Given the description of an element on the screen output the (x, y) to click on. 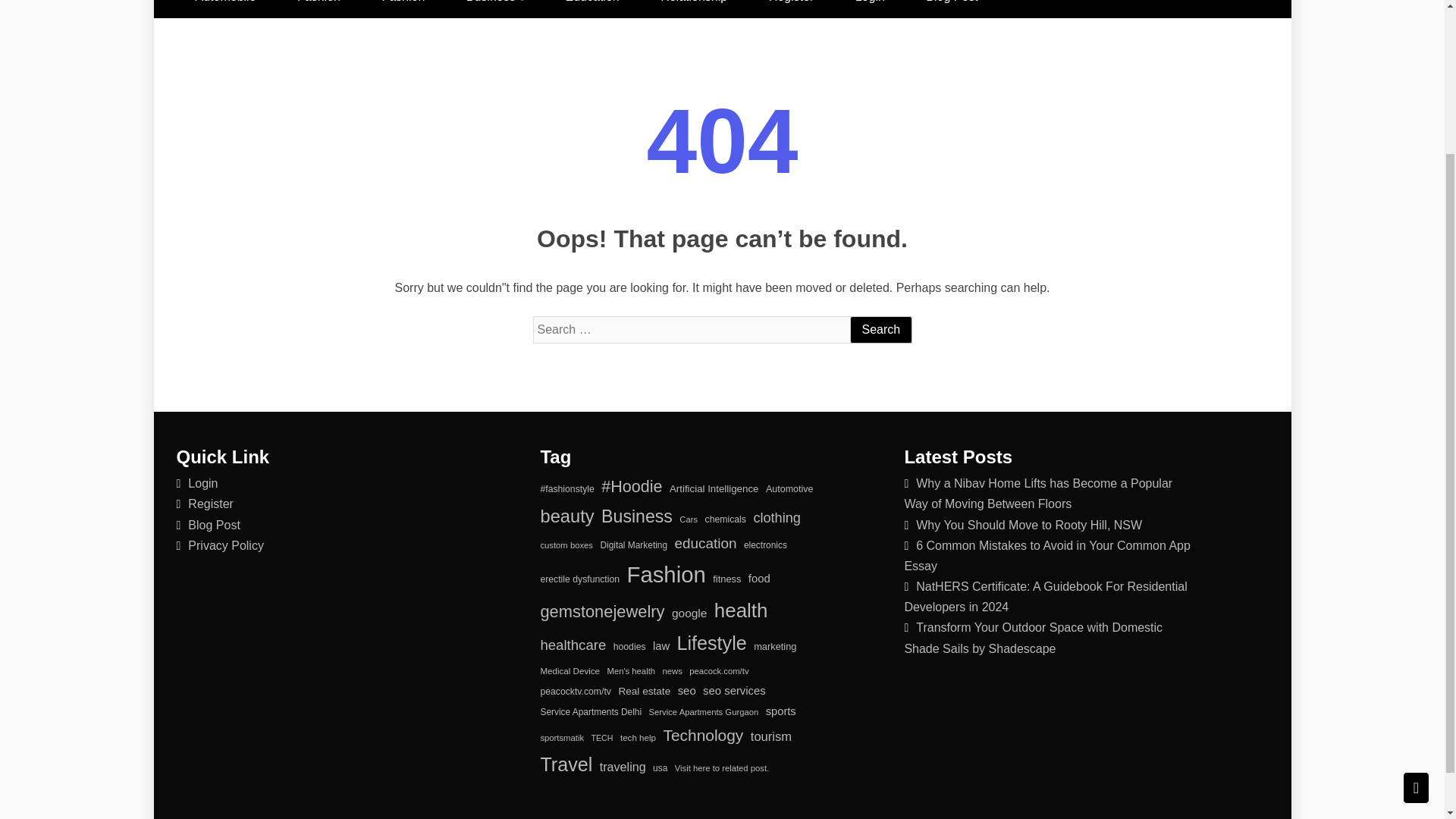
Privacy Policy (225, 545)
erectile dysfunction (580, 579)
Automotive (789, 489)
Search (879, 329)
Register (791, 9)
food (759, 578)
Education (592, 9)
Fashion (665, 574)
Business (636, 516)
Blog Post (213, 524)
Login (869, 9)
beauty (567, 516)
Artificial Intelligence (713, 488)
chemicals (724, 519)
Search (879, 329)
